Given the description of an element on the screen output the (x, y) to click on. 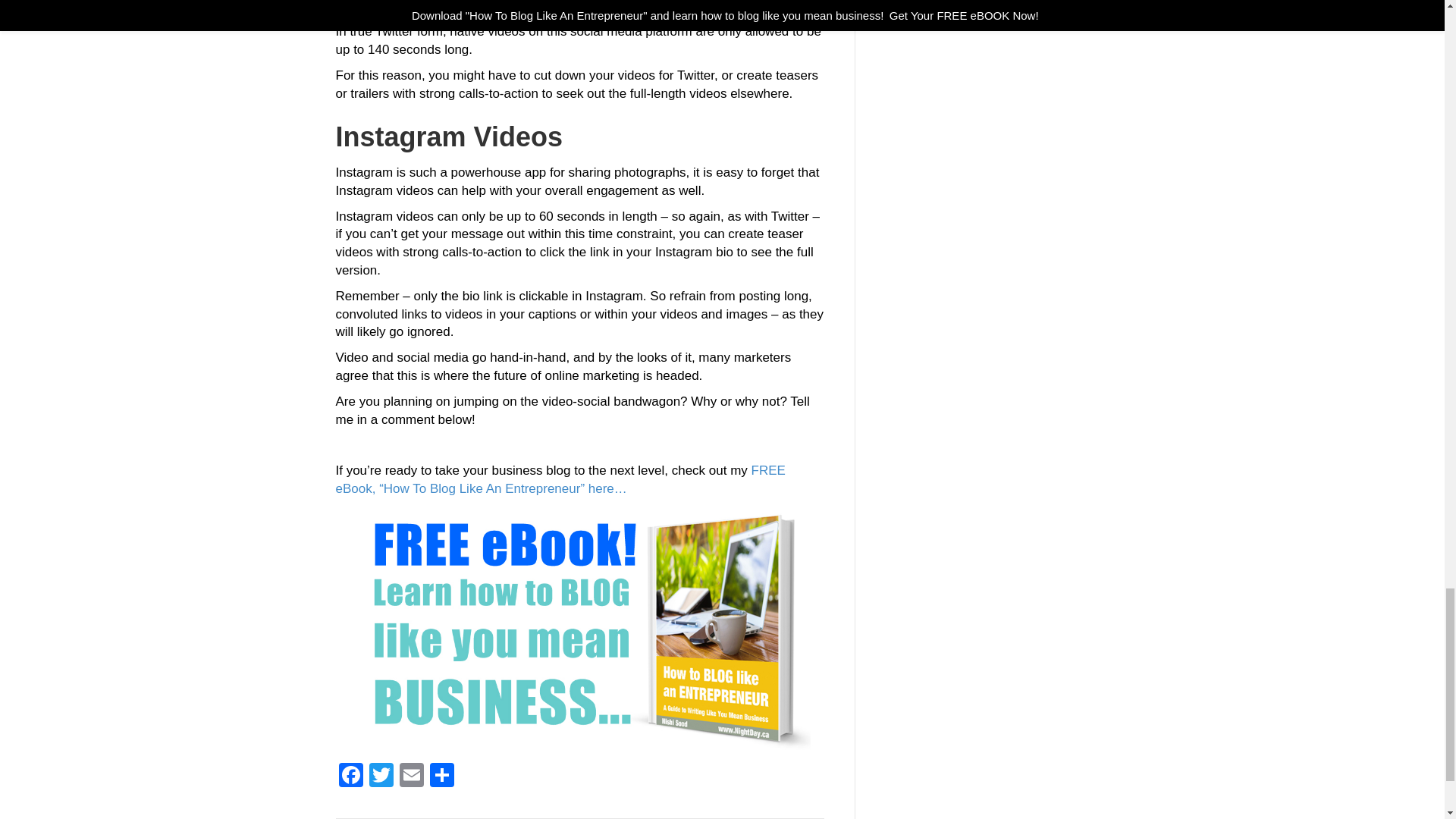
as reported by Social Media Today. (543, 6)
Share (441, 776)
Twitter (380, 776)
Facebook (349, 776)
Facebook (349, 776)
Email (411, 776)
Twitter (380, 776)
Email (411, 776)
